Given the description of an element on the screen output the (x, y) to click on. 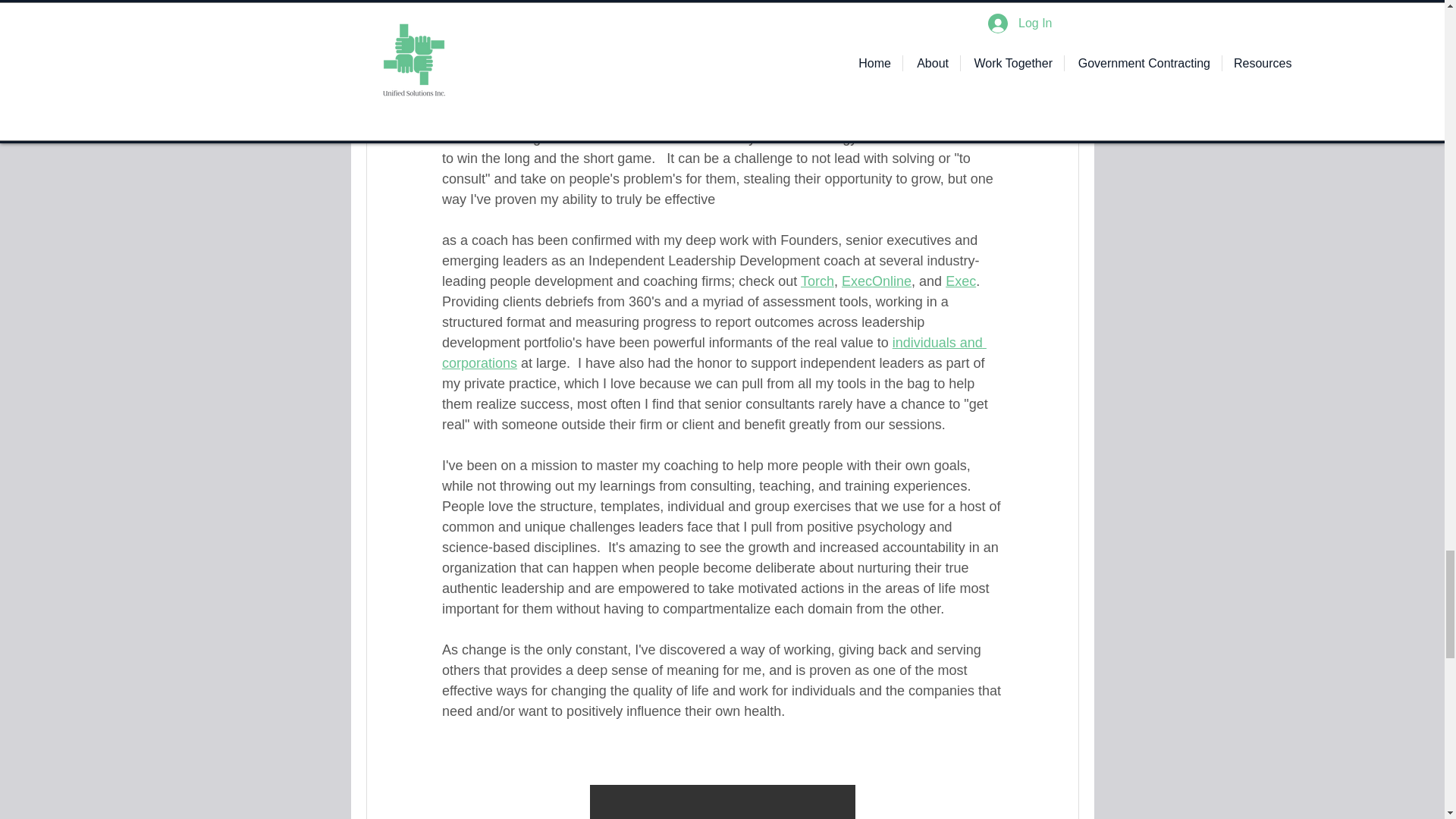
ExecOnline (876, 281)
individuals and corporations (713, 352)
Exec (959, 281)
Torch (815, 281)
